Given the description of an element on the screen output the (x, y) to click on. 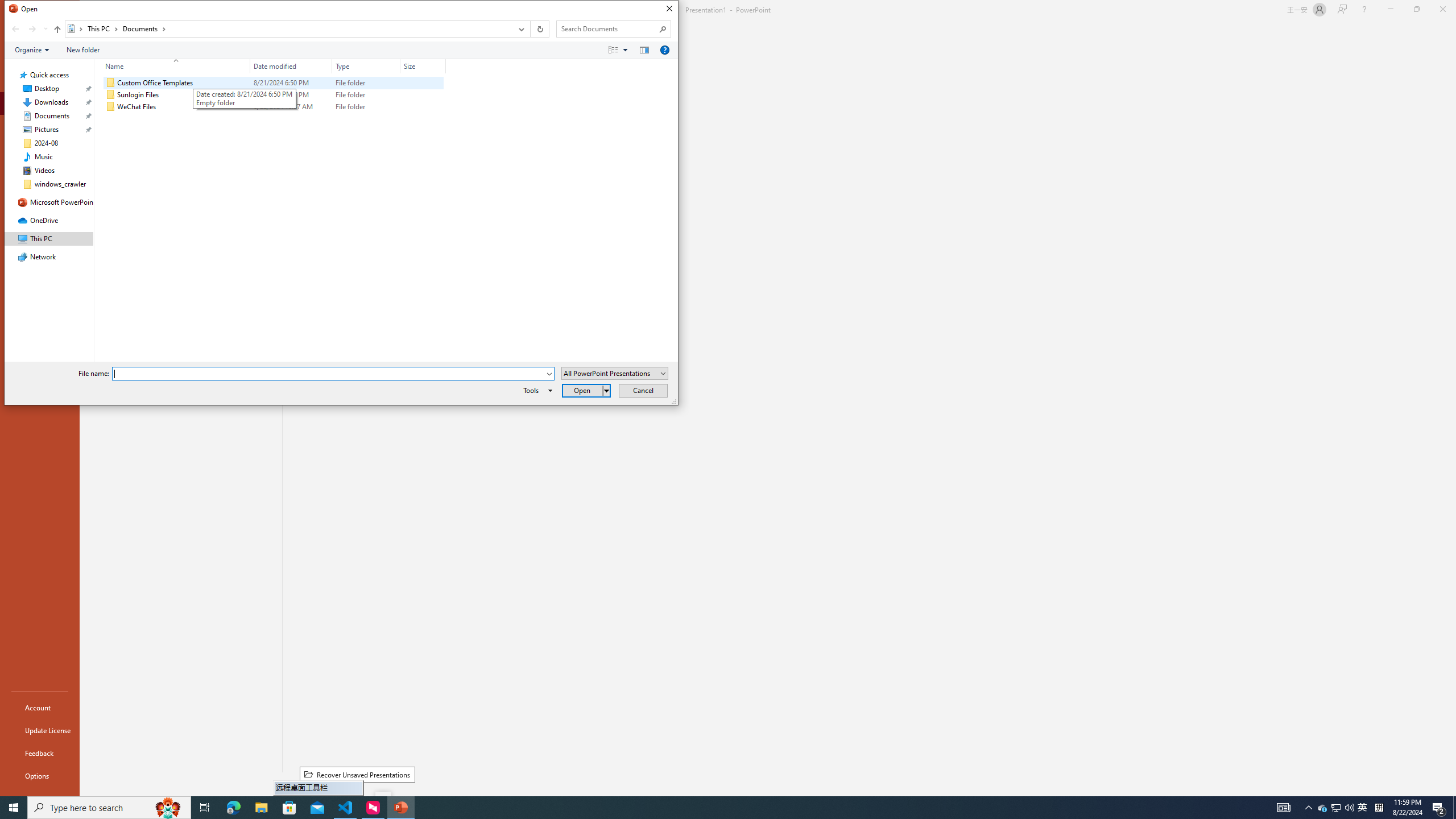
Command Module (341, 49)
File name: (333, 373)
All locations (75, 28)
